Given the description of an element on the screen output the (x, y) to click on. 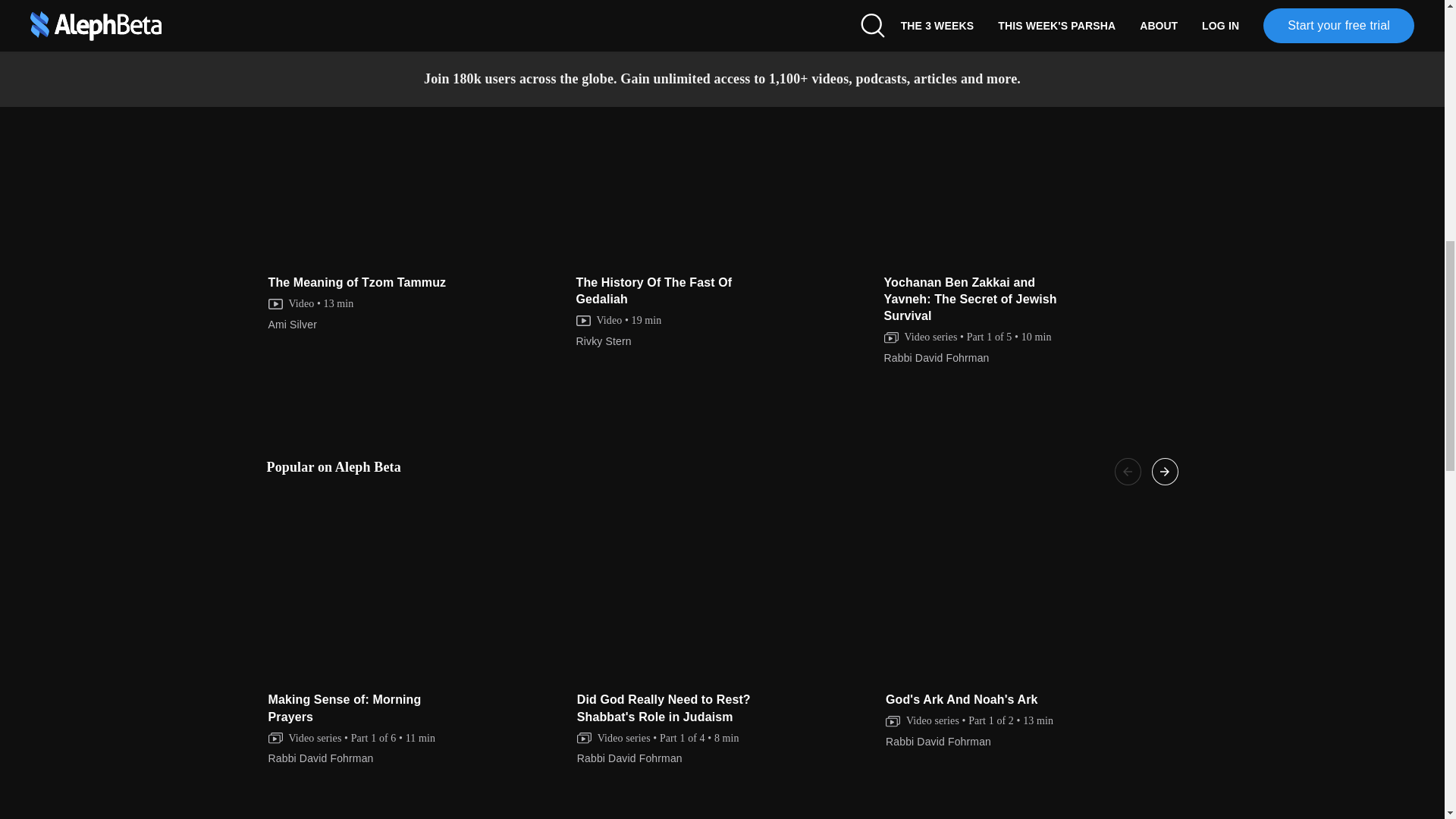
The Meaning of Tzom Tammuz (414, 178)
Making Sense of: Morning Prayers (415, 596)
The History Of The Fast Of Gedaliah (722, 178)
Did God Really Need to Rest? Shabbat's Role in Judaism (723, 596)
God's Ark And Noah's Ark (1031, 596)
